Given the description of an element on the screen output the (x, y) to click on. 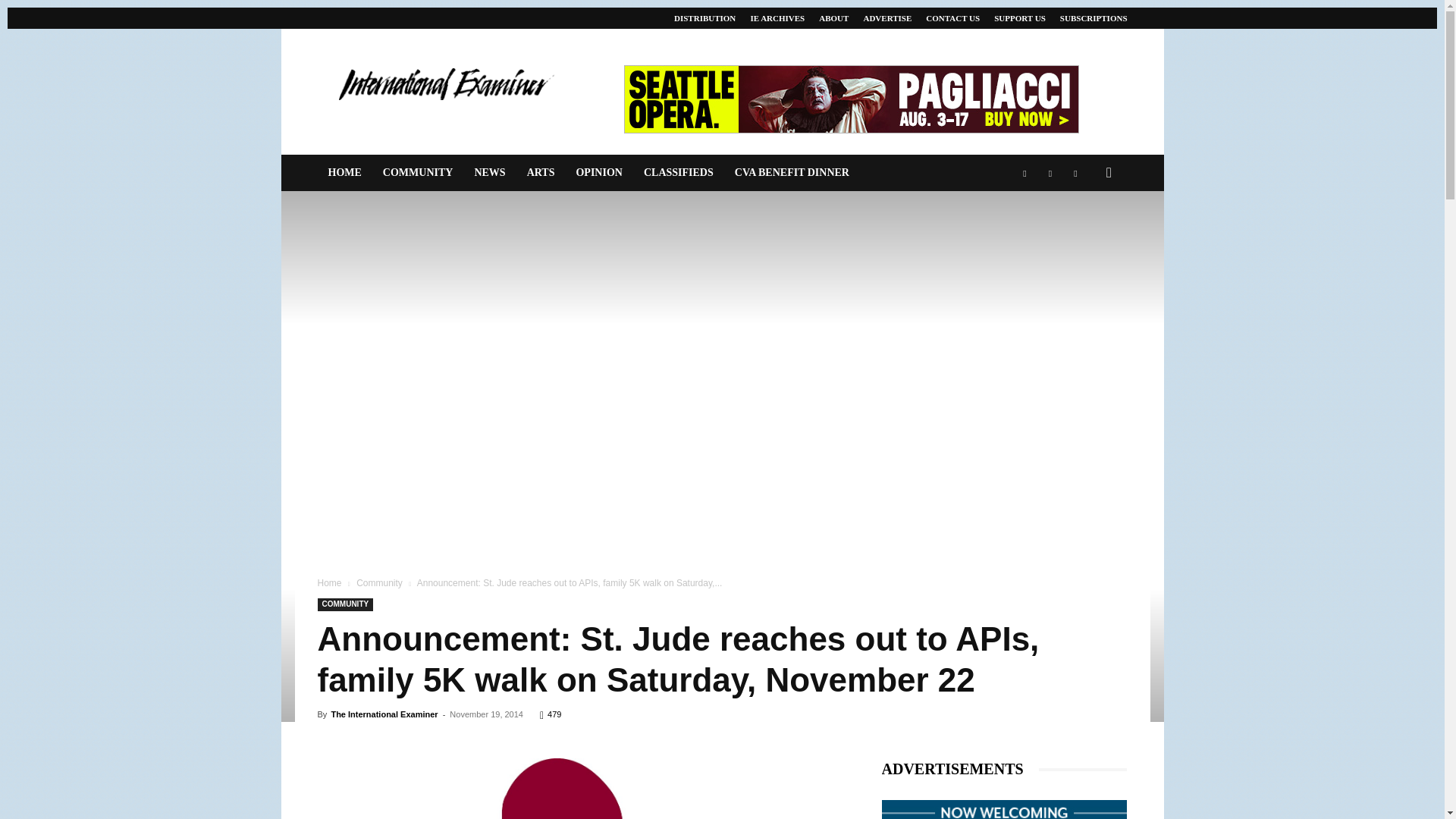
ADVERTISE (887, 17)
OPINION (597, 172)
DISTRIBUTION (704, 17)
SUBSCRIPTIONS (1092, 17)
Search (1085, 233)
COMMUNITY (418, 172)
COMMUNITY (344, 604)
ARTS (541, 172)
SUPPORT US (1019, 17)
IE ARCHIVES (777, 17)
